Given the description of an element on the screen output the (x, y) to click on. 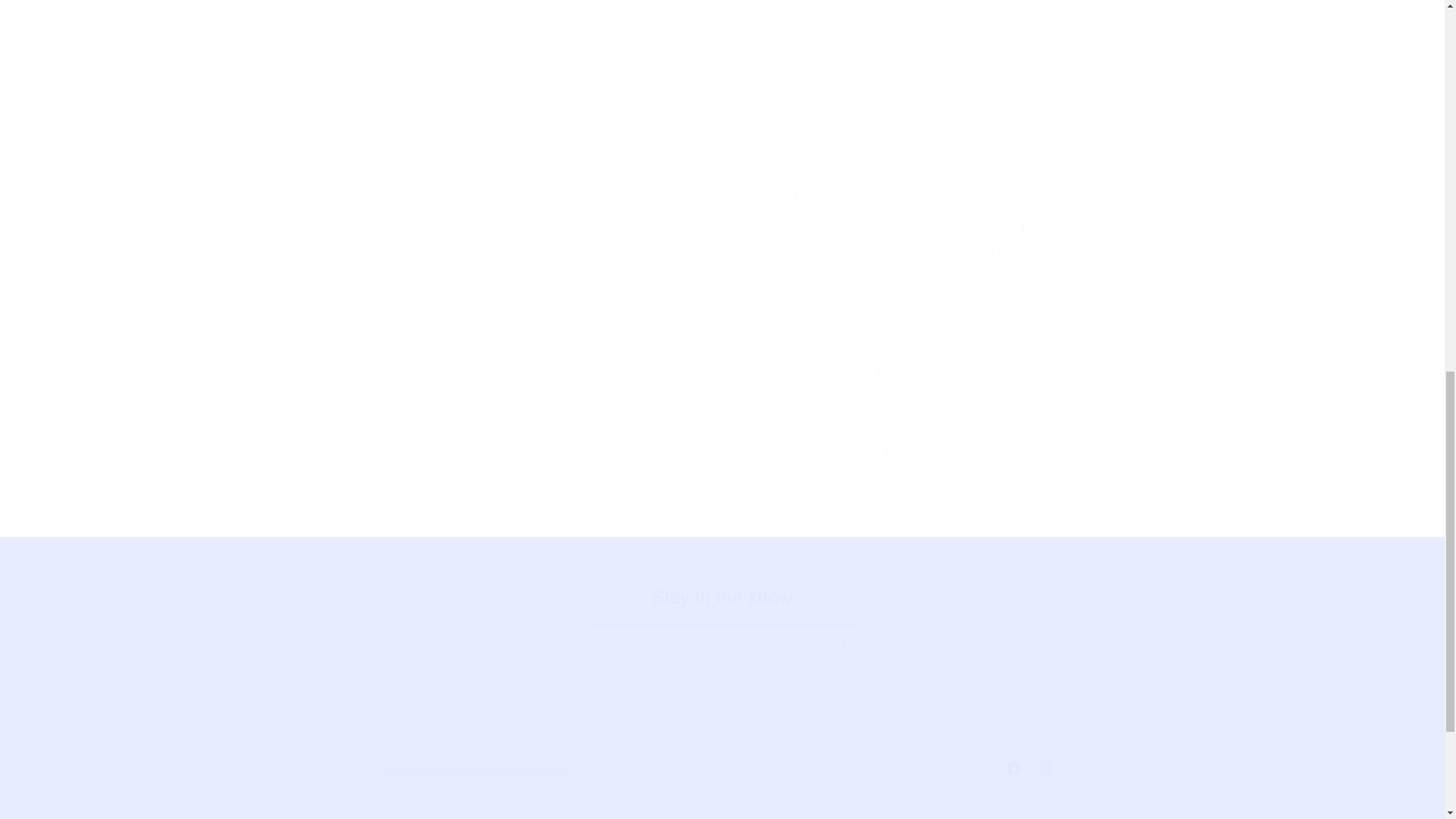
Stay in the know (721, 597)
Email (722, 642)
